Given the description of an element on the screen output the (x, y) to click on. 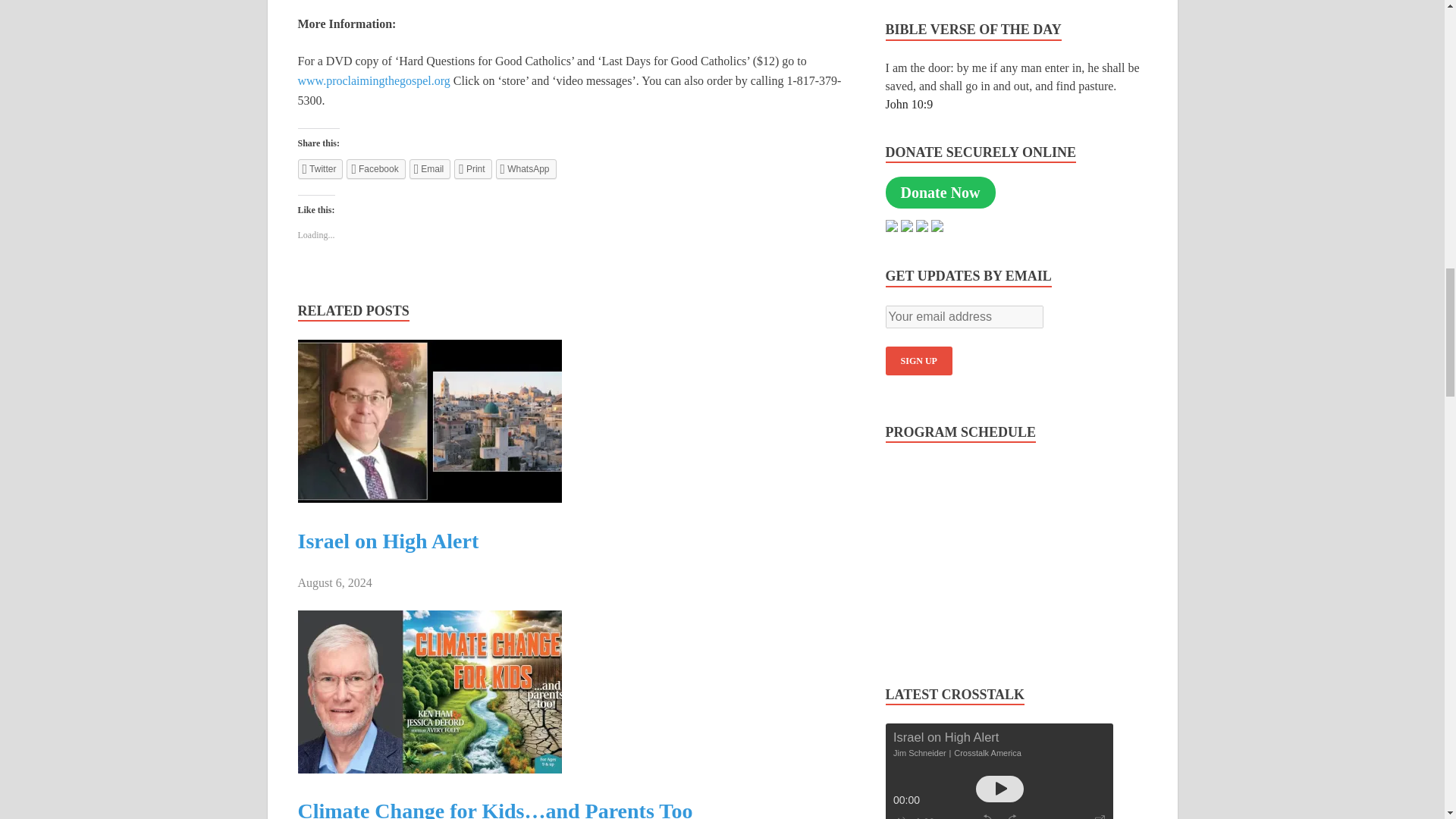
Click to share on WhatsApp (526, 168)
Click to share on Twitter (319, 168)
Israel on High Alert (388, 540)
Click to email a link to a friend (430, 168)
Sign up (918, 360)
Click to print (473, 168)
Click to share on Facebook (375, 168)
Israel on High Alert (428, 498)
